Given the description of an element on the screen output the (x, y) to click on. 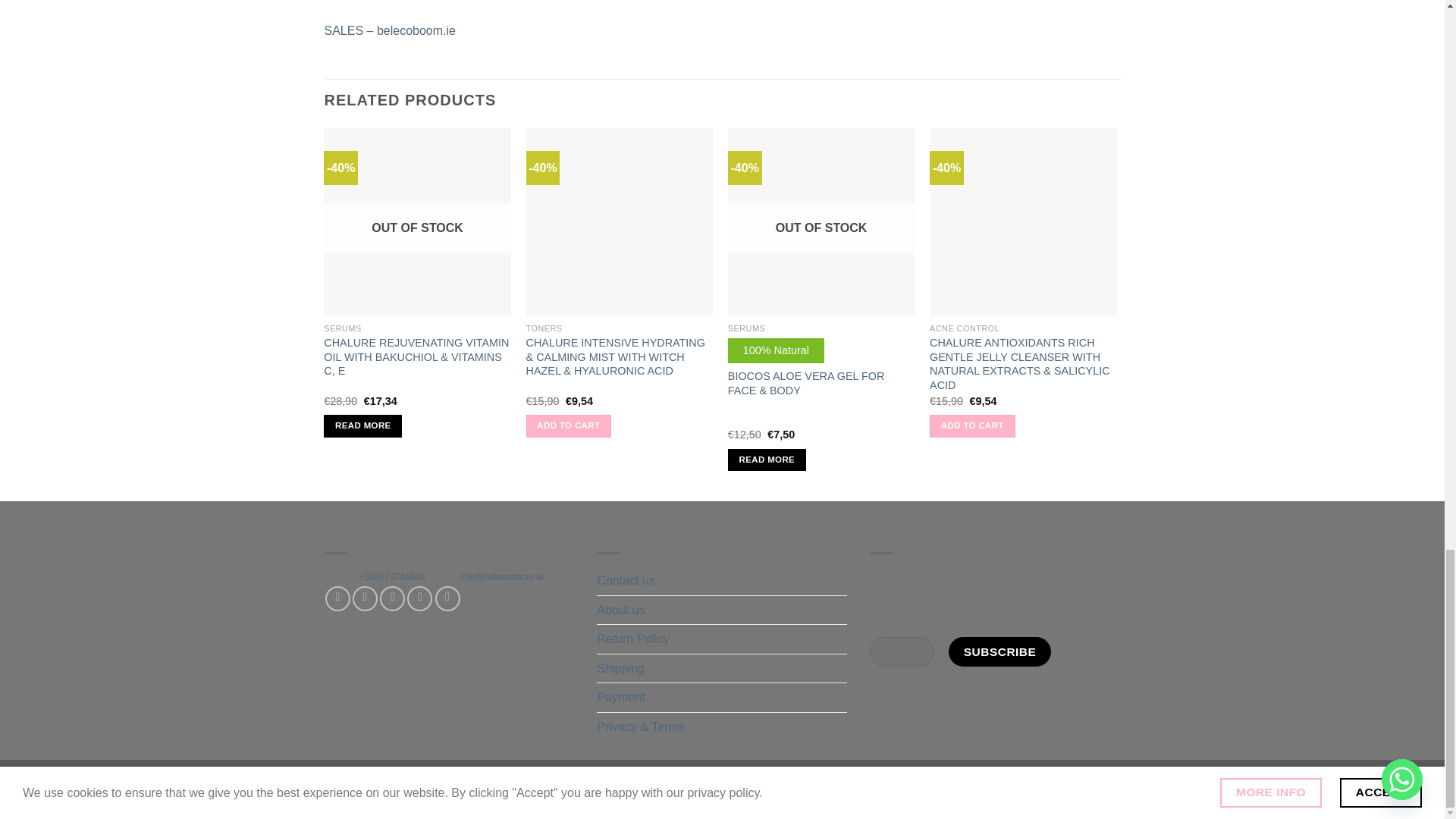
Subscribe (1000, 651)
